Given the description of an element on the screen output the (x, y) to click on. 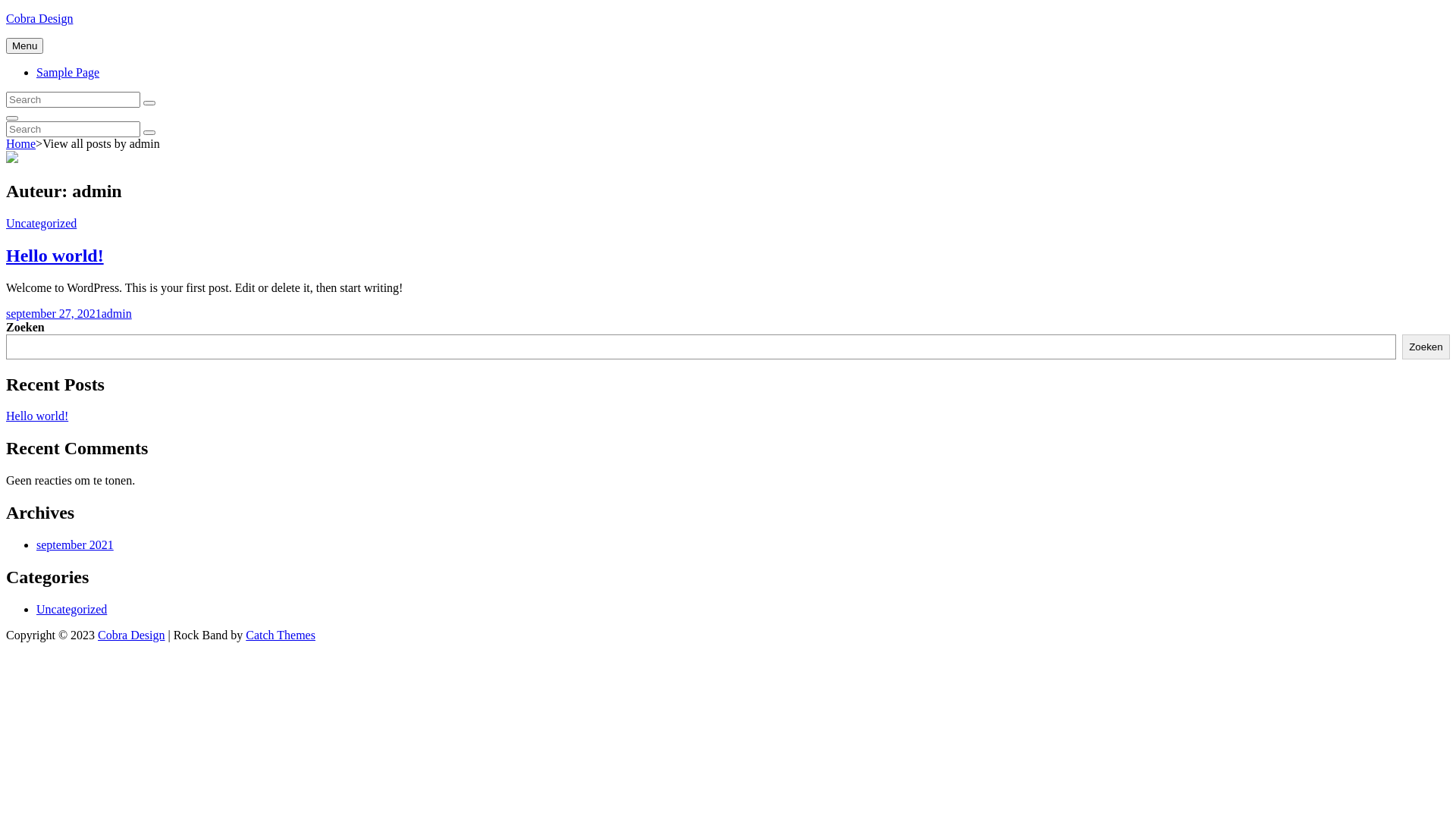
september 2021 Element type: text (74, 544)
Skip to content Element type: text (5, 11)
Search Element type: text (149, 132)
Hello world! Element type: text (37, 415)
admin Element type: text (116, 313)
Search Element type: text (149, 102)
Hello world! Element type: text (54, 255)
Cobra Design Element type: text (39, 18)
Cobra Design Element type: text (130, 634)
Zoeken Element type: text (1425, 346)
Menu Element type: text (24, 45)
Home Element type: text (20, 143)
september 27, 2021 Element type: text (53, 313)
Uncategorized Element type: text (41, 222)
Sample Page Element type: text (67, 71)
Uncategorized Element type: text (71, 608)
Search Element type: text (12, 118)
Catch Themes Element type: text (280, 634)
